Given the description of an element on the screen output the (x, y) to click on. 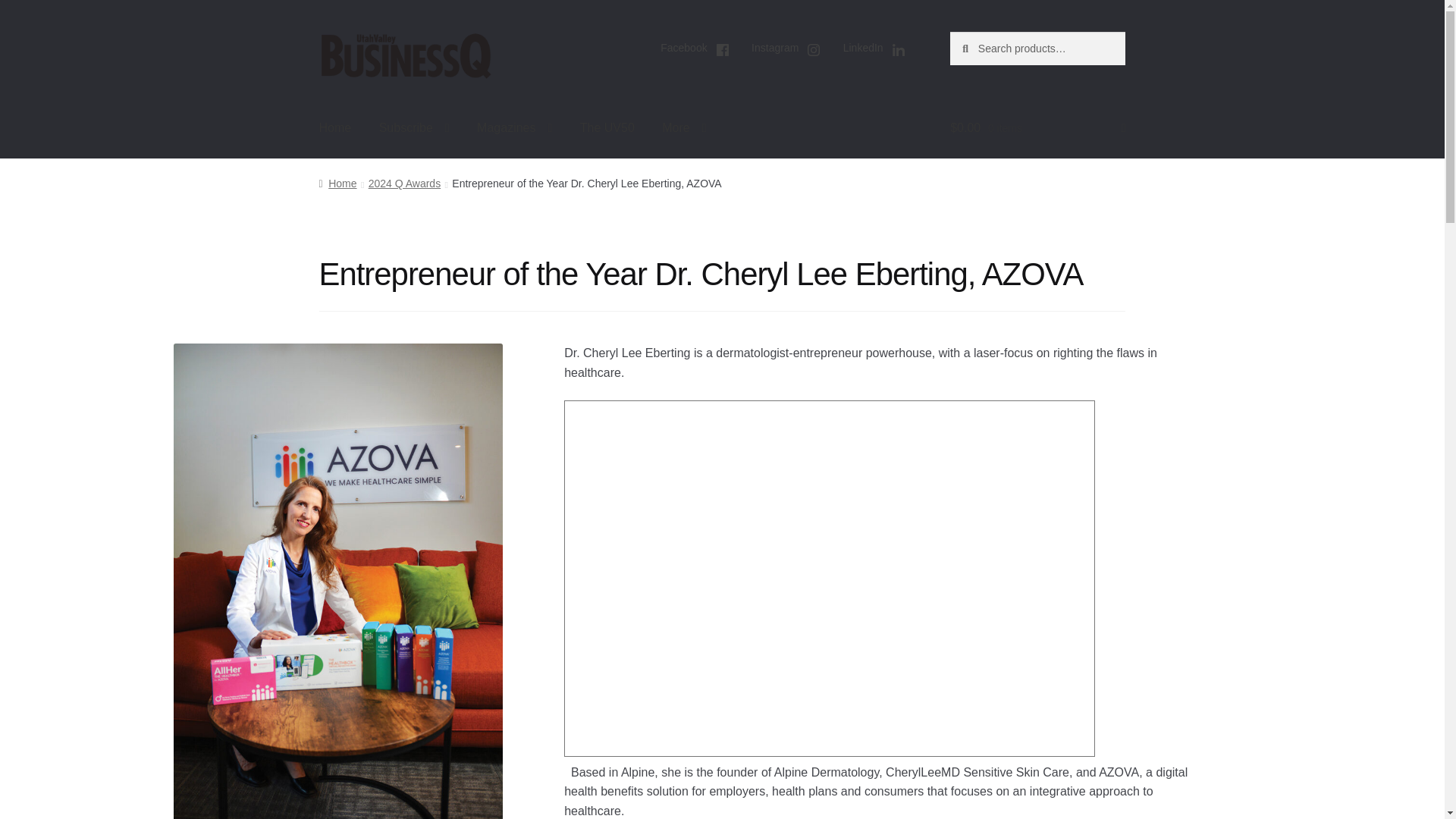
More (683, 128)
Instagram (786, 49)
Magazines (514, 128)
Subscribe (413, 128)
View your shopping cart (1037, 128)
LinkedIn (873, 49)
Home (335, 128)
Facebook (694, 49)
